Given the description of an element on the screen output the (x, y) to click on. 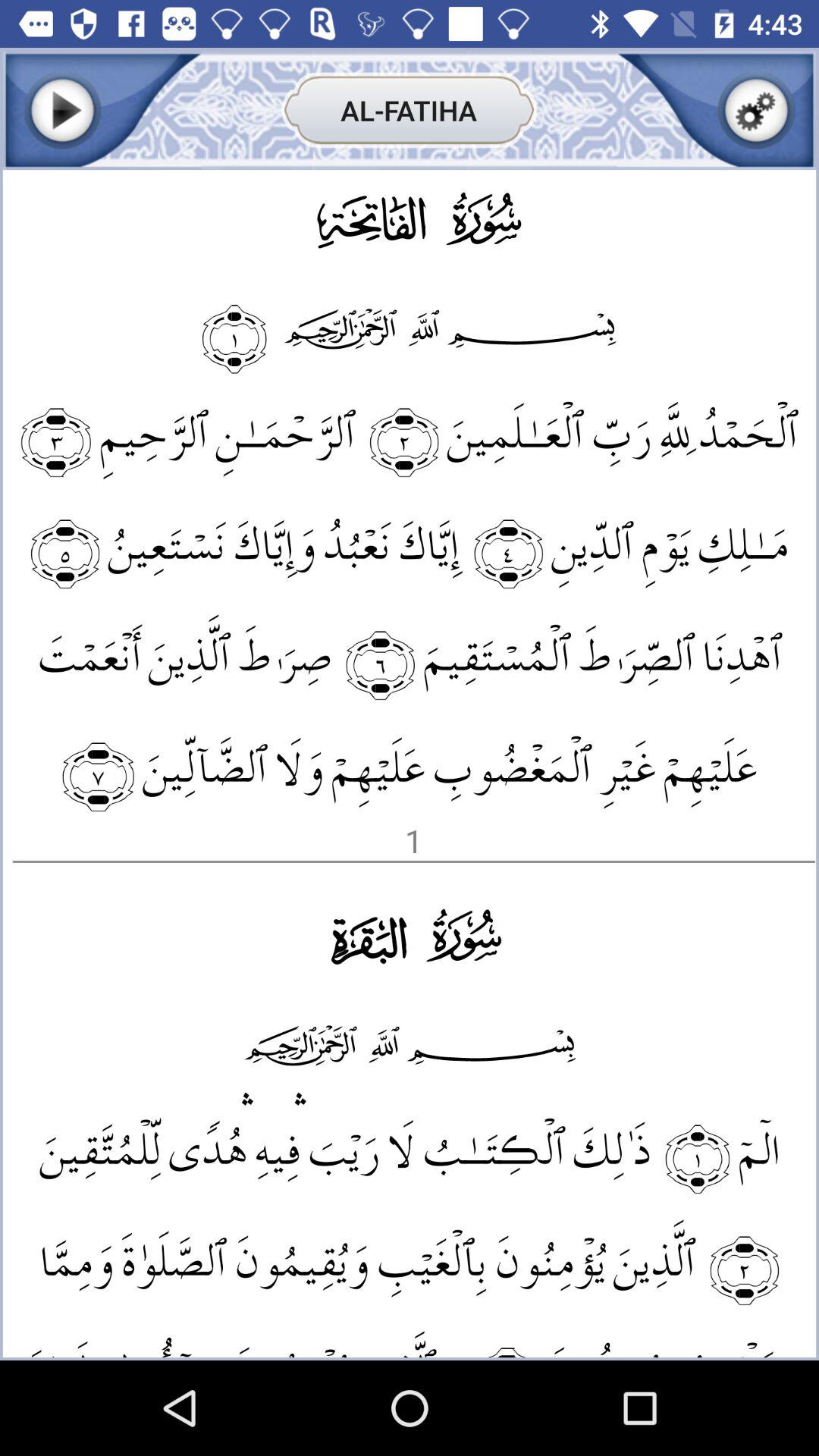
enters settings (756, 110)
